Given the description of an element on the screen output the (x, y) to click on. 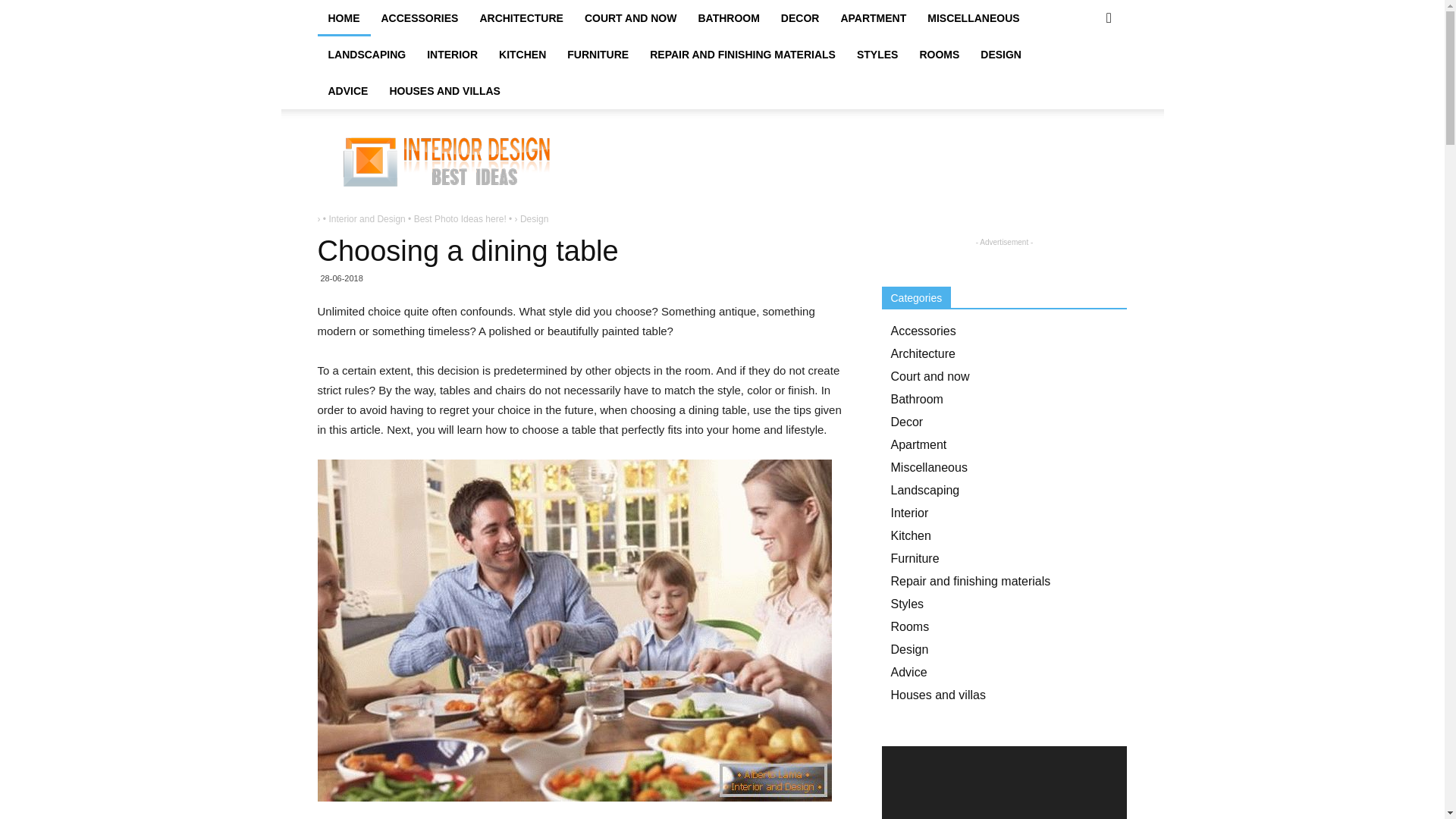
HOME (343, 18)
BATHROOM (728, 18)
DECOR (799, 18)
KITCHEN (521, 54)
ARCHITECTURE (520, 18)
MISCELLANEOUS (973, 18)
COURT AND NOW (630, 18)
ACCESSORIES (418, 18)
LANDSCAPING (366, 54)
